Given the description of an element on the screen output the (x, y) to click on. 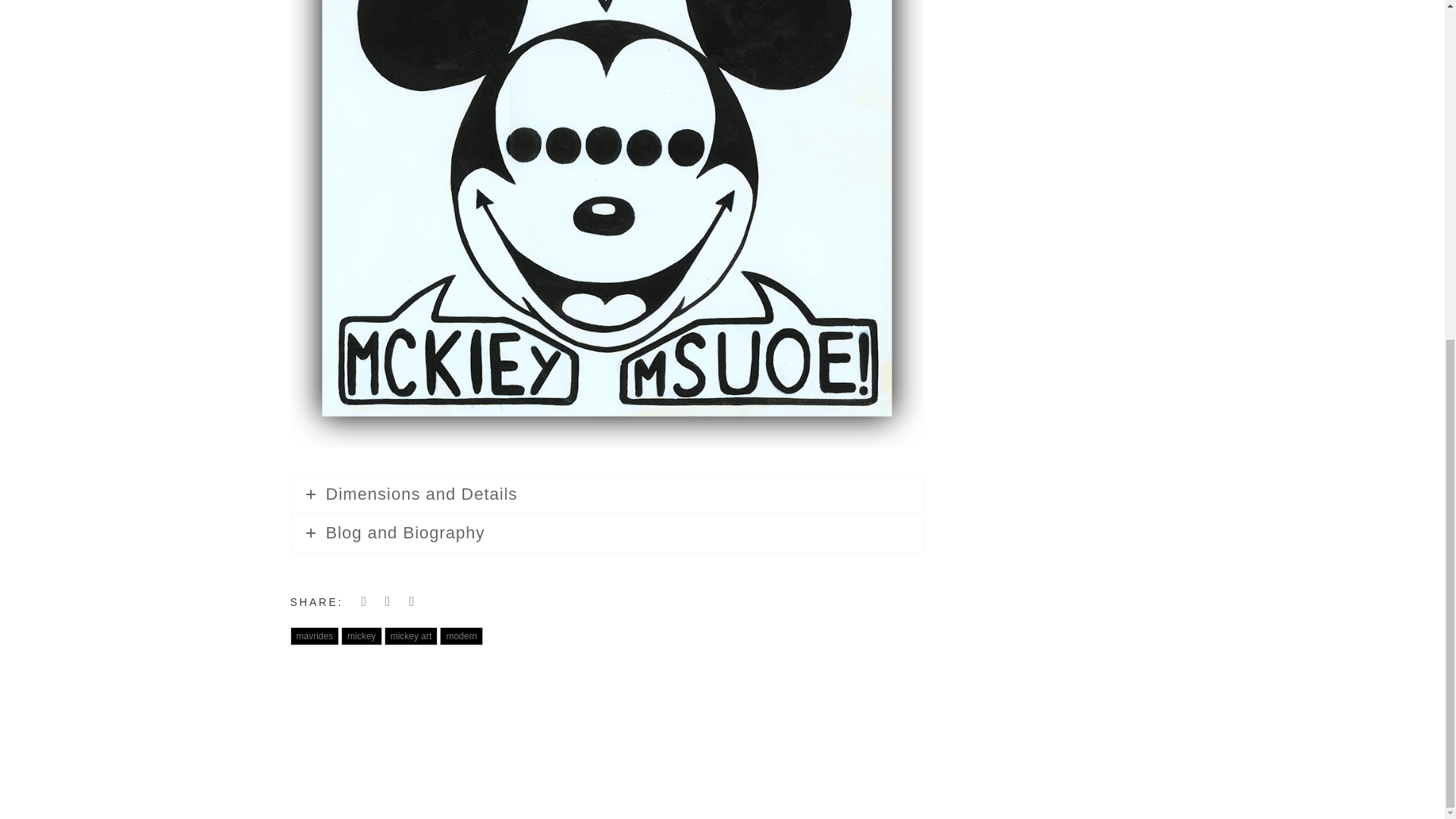
mickey (360, 636)
mickey art (411, 636)
Dimensions and Details (607, 494)
Blog and Biography (607, 533)
modern (461, 636)
mavrides (314, 636)
